Given the description of an element on the screen output the (x, y) to click on. 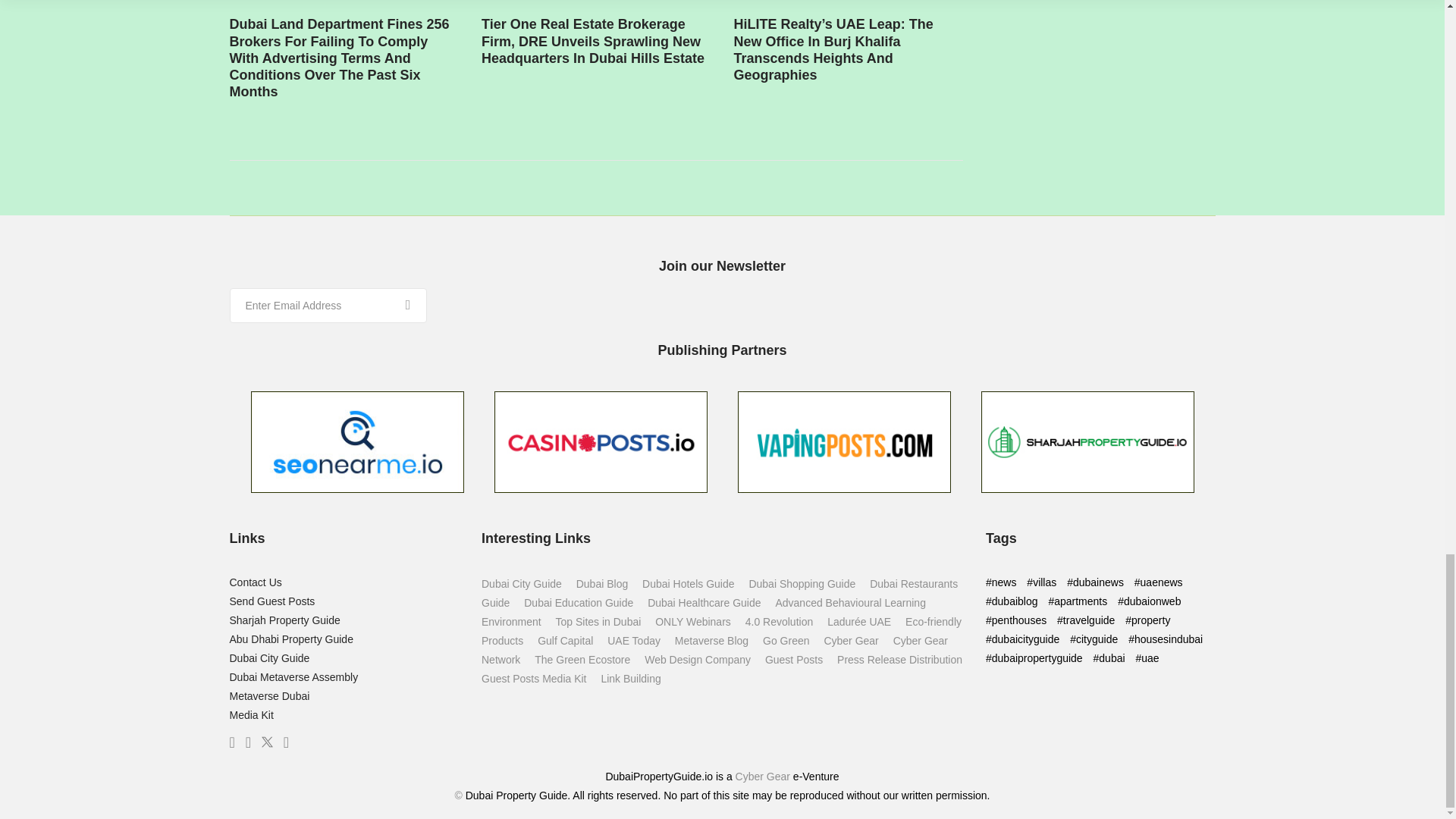
Metaverse Dubai (268, 695)
Dubai Metaverse Assembly (293, 676)
Abu Dhabi Property Guide (290, 639)
Sharjah Property Guide (283, 620)
Contact Us (254, 582)
Send Guest Posts (271, 601)
Media Kit (250, 715)
Dubai City Guide (268, 657)
